Given the description of an element on the screen output the (x, y) to click on. 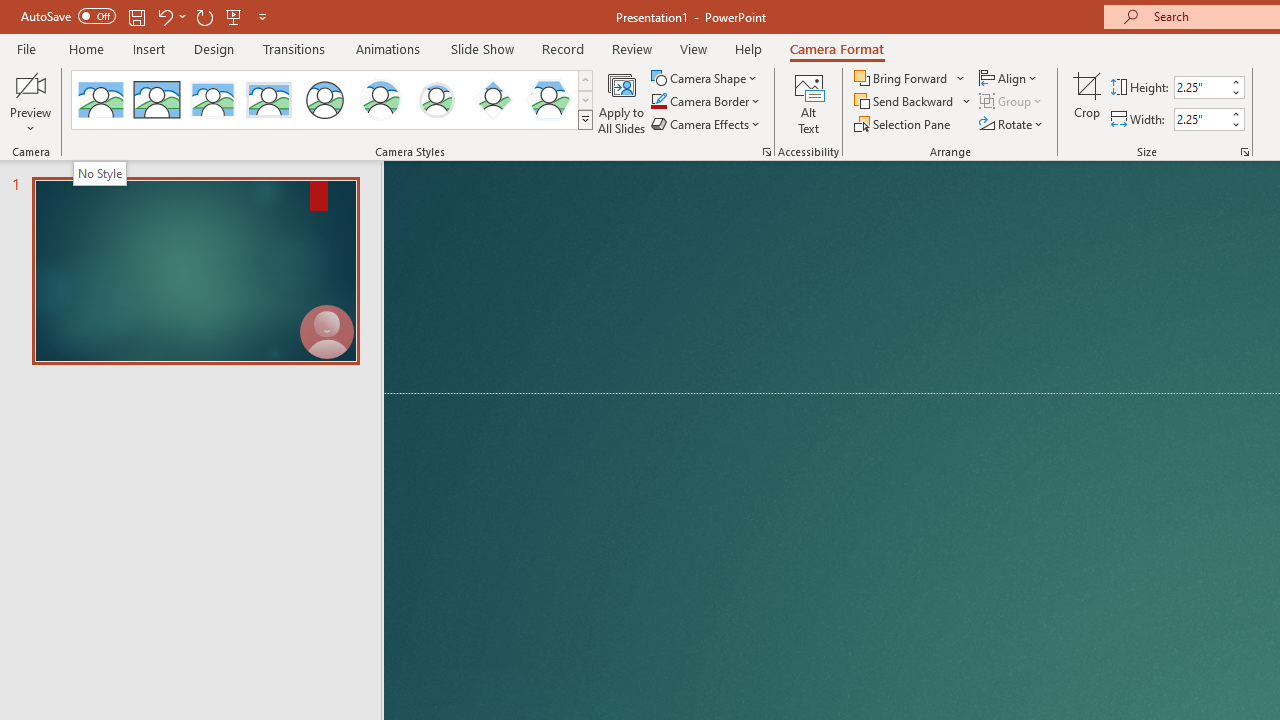
No Style (100, 100)
Soft Edge Circle (436, 100)
Enable Camera Preview (30, 84)
AutomationID: CameoStylesGallery (333, 99)
Crop (1087, 102)
